Given the description of an element on the screen output the (x, y) to click on. 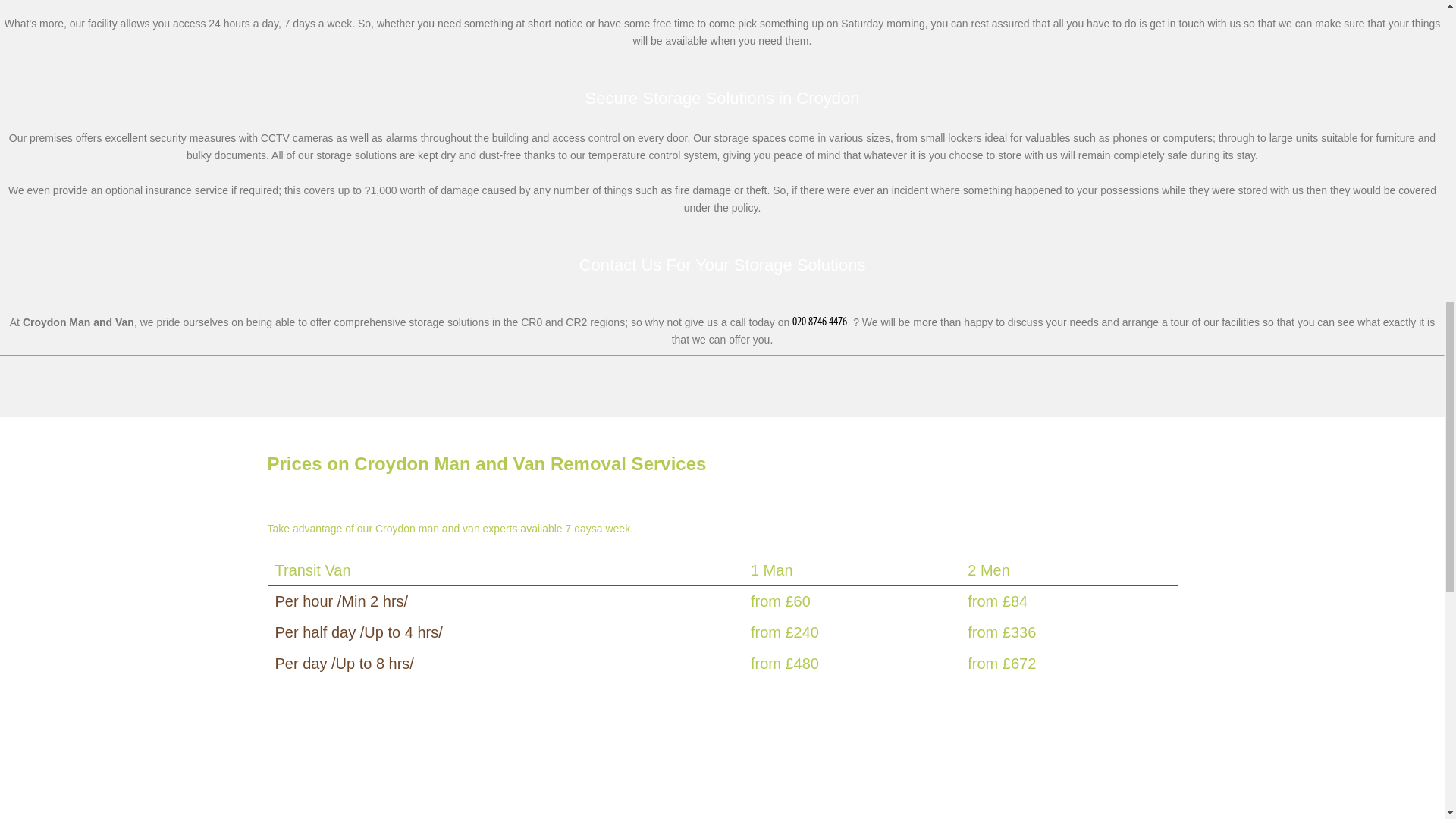
Call Now! (822, 322)
